Given the description of an element on the screen output the (x, y) to click on. 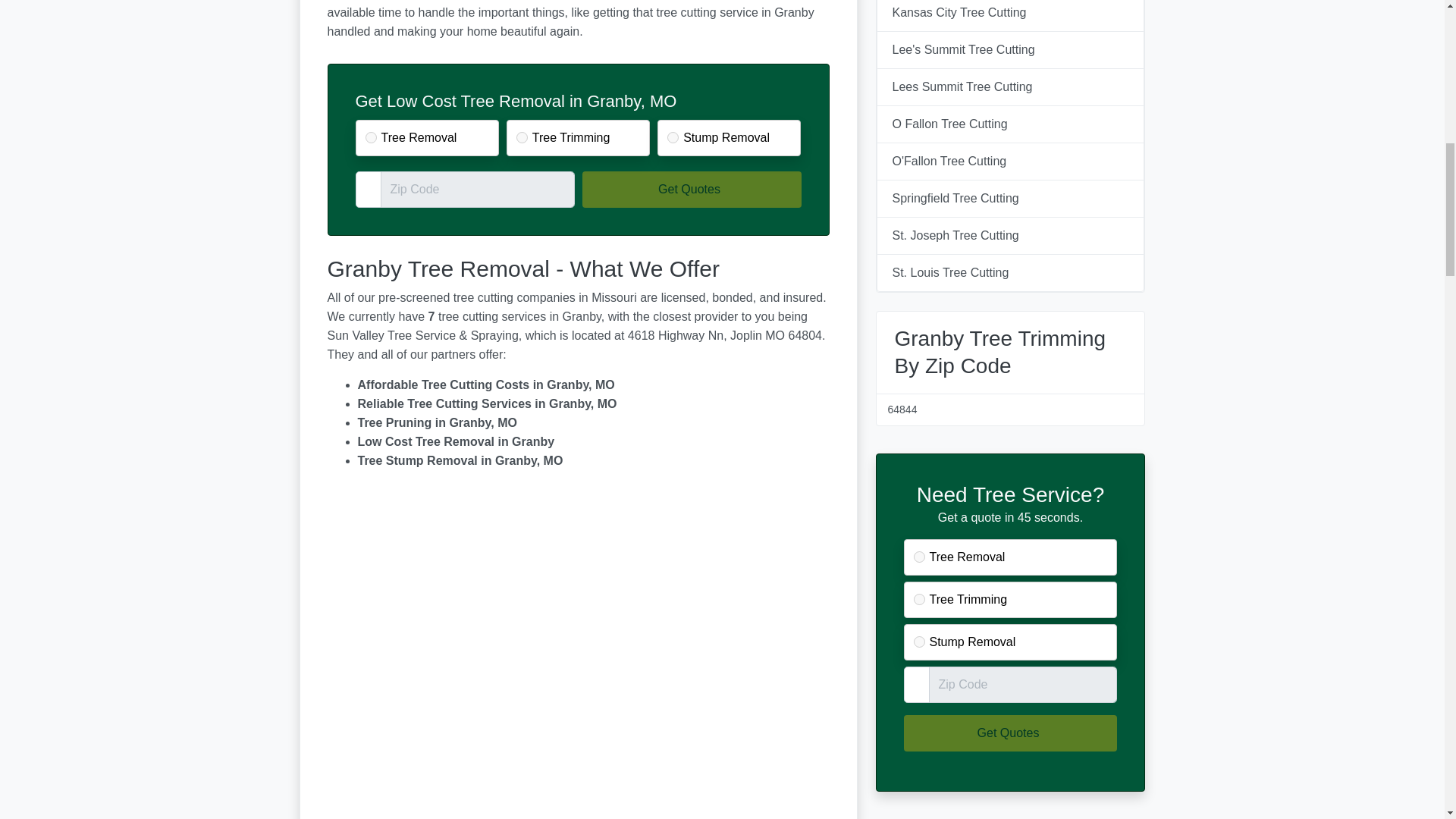
Tree Removal (918, 556)
Tree Trimming (918, 599)
Stump Removal (918, 641)
St. Louis Tree Cutting (1010, 272)
O'Fallon Tree Cutting (1010, 161)
Lees Summit Tree Cutting (1010, 86)
Lee's Summit Tree Cutting (1010, 49)
Tree Removal (371, 137)
Get Quotes (1011, 732)
Springfield Tree Cutting (1010, 198)
